Given the description of an element on the screen output the (x, y) to click on. 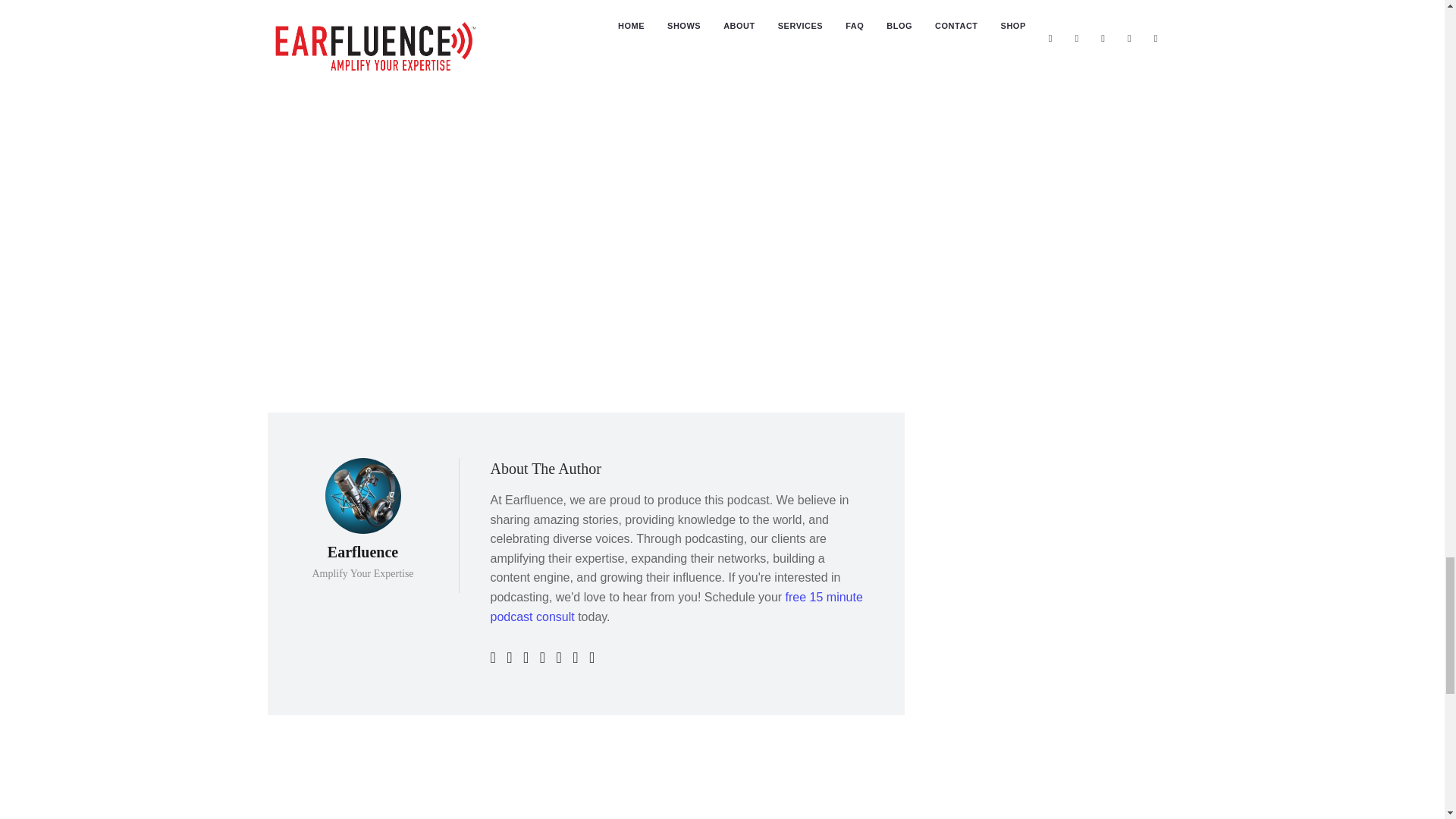
Earfluence (362, 551)
Earfluence (631, 62)
free 15 minute podcast consult (675, 606)
